Given the description of an element on the screen output the (x, y) to click on. 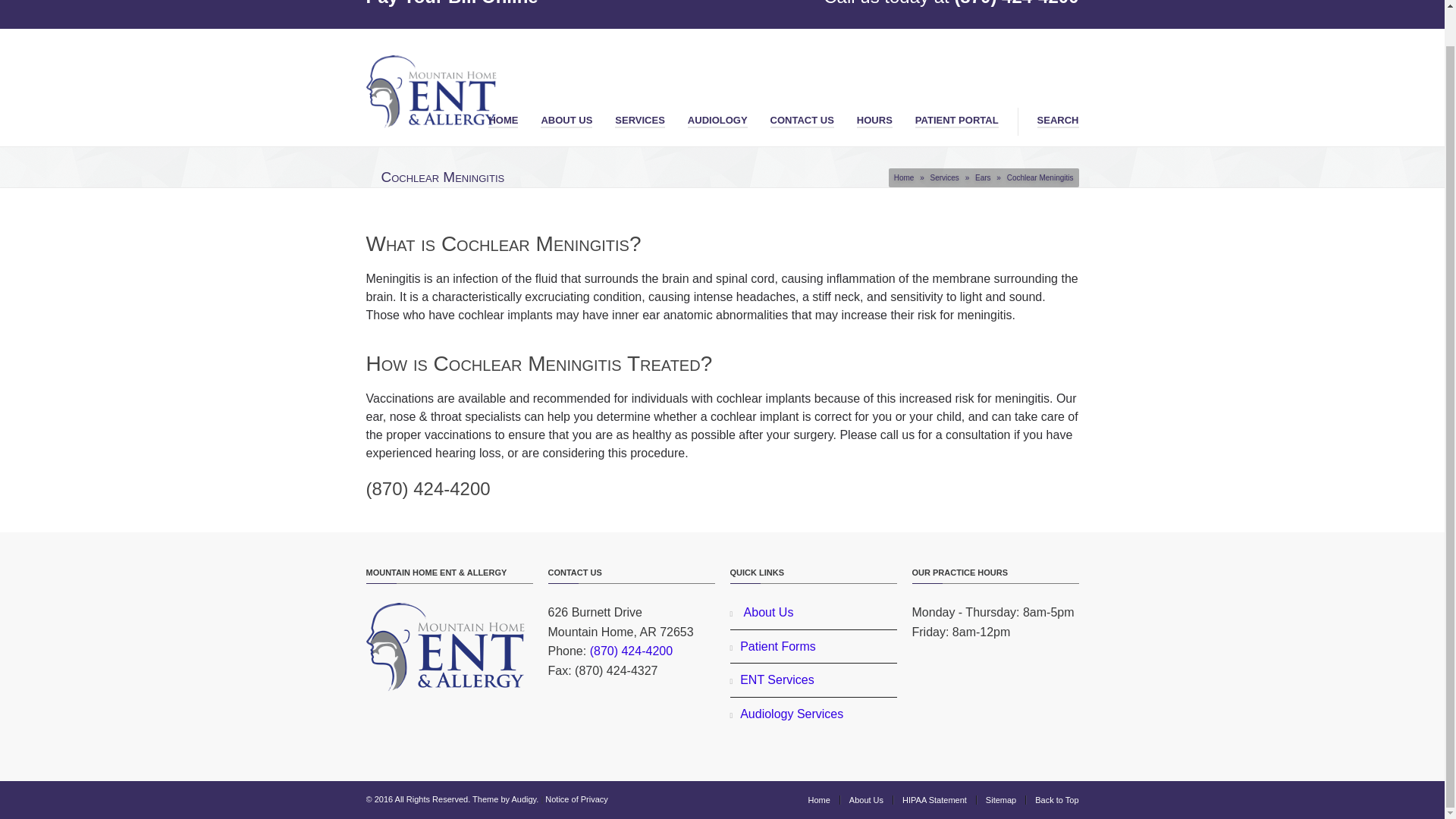
Services (944, 177)
HOME (502, 117)
SERVICES (639, 117)
Ears (983, 177)
Pay Your Bill Online (451, 3)
ABOUT US (566, 117)
